Given the description of an element on the screen output the (x, y) to click on. 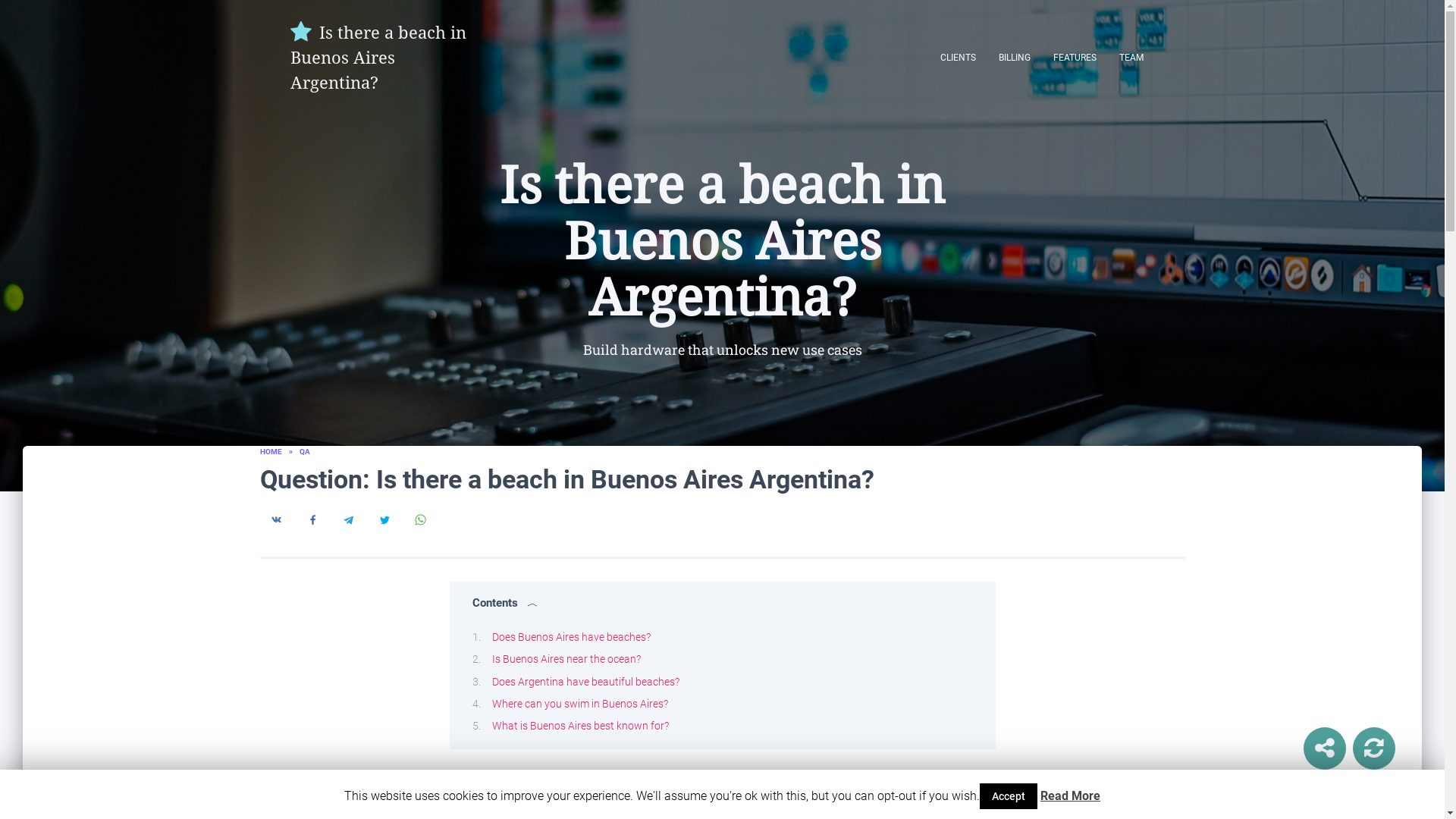
Features (1075, 56)
Is there a beach in Buenos Aires Argentina? (379, 56)
Does Buenos Aires have beaches? (570, 636)
What is Buenos Aires best known for? (580, 725)
Clients (957, 56)
Where can you swim in Buenos Aires? (579, 703)
Billing (1014, 56)
Accept (1007, 795)
Team (1130, 56)
Share Startup (1324, 748)
CLIENTS (957, 56)
Is Buenos Aires near the ocean? (566, 658)
BILLING (1014, 56)
TEAM (1130, 56)
Does Argentina have beautiful beaches? (585, 680)
